Given the description of an element on the screen output the (x, y) to click on. 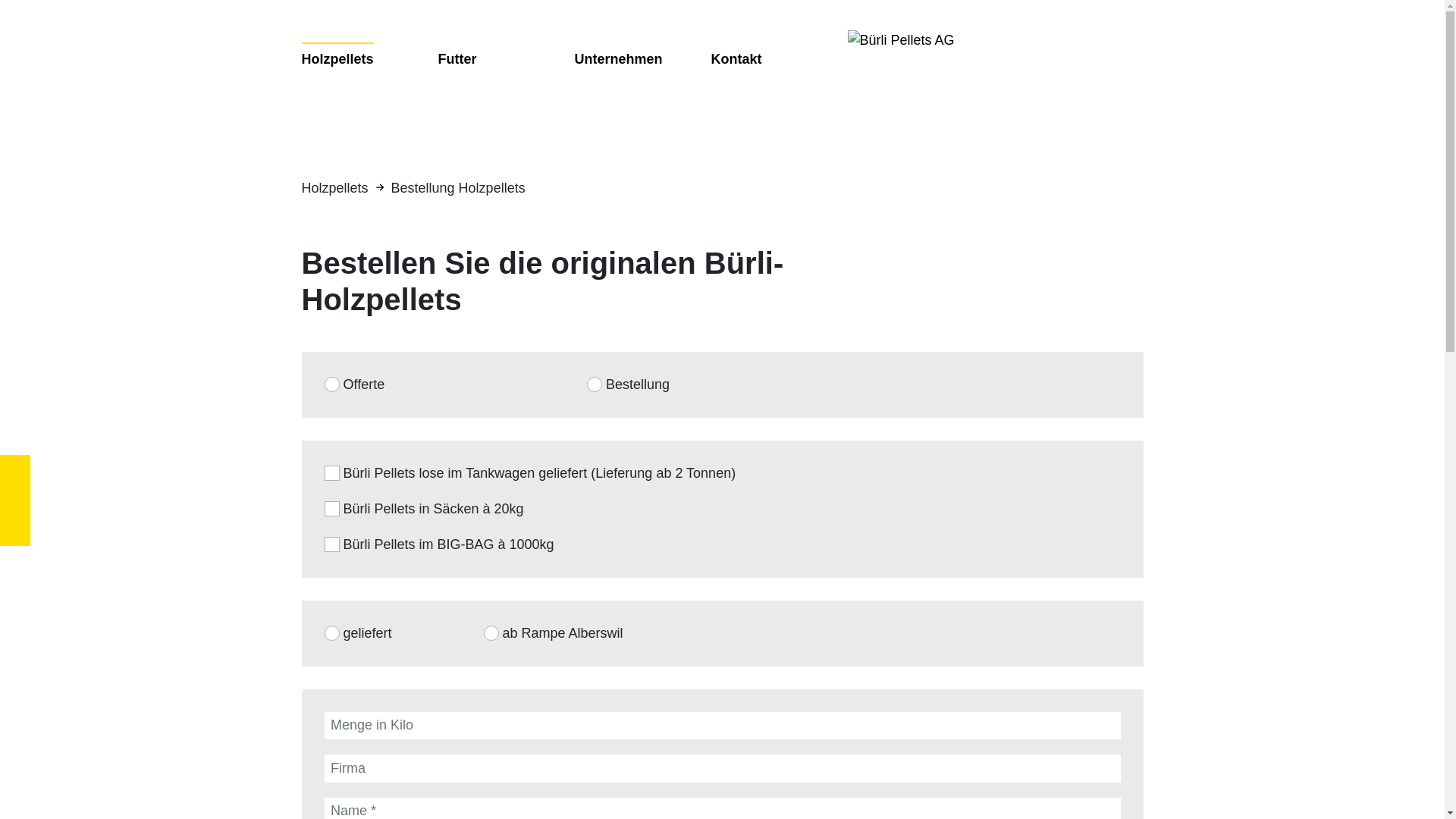
Unternehmen Element type: text (618, 58)
Holzpellets Element type: text (334, 187)
Futter Element type: text (457, 58)
info@buerli-pellets.ch Element type: text (15, 530)
Holzpellets Element type: text (337, 58)
Kontakt Element type: text (736, 58)
Bestellung Holzpellets Element type: text (458, 187)
041 970 18 64 Element type: text (15, 500)
Ziegelmatte 3
6248 Alberswil Element type: text (15, 470)
